Given the description of an element on the screen output the (x, y) to click on. 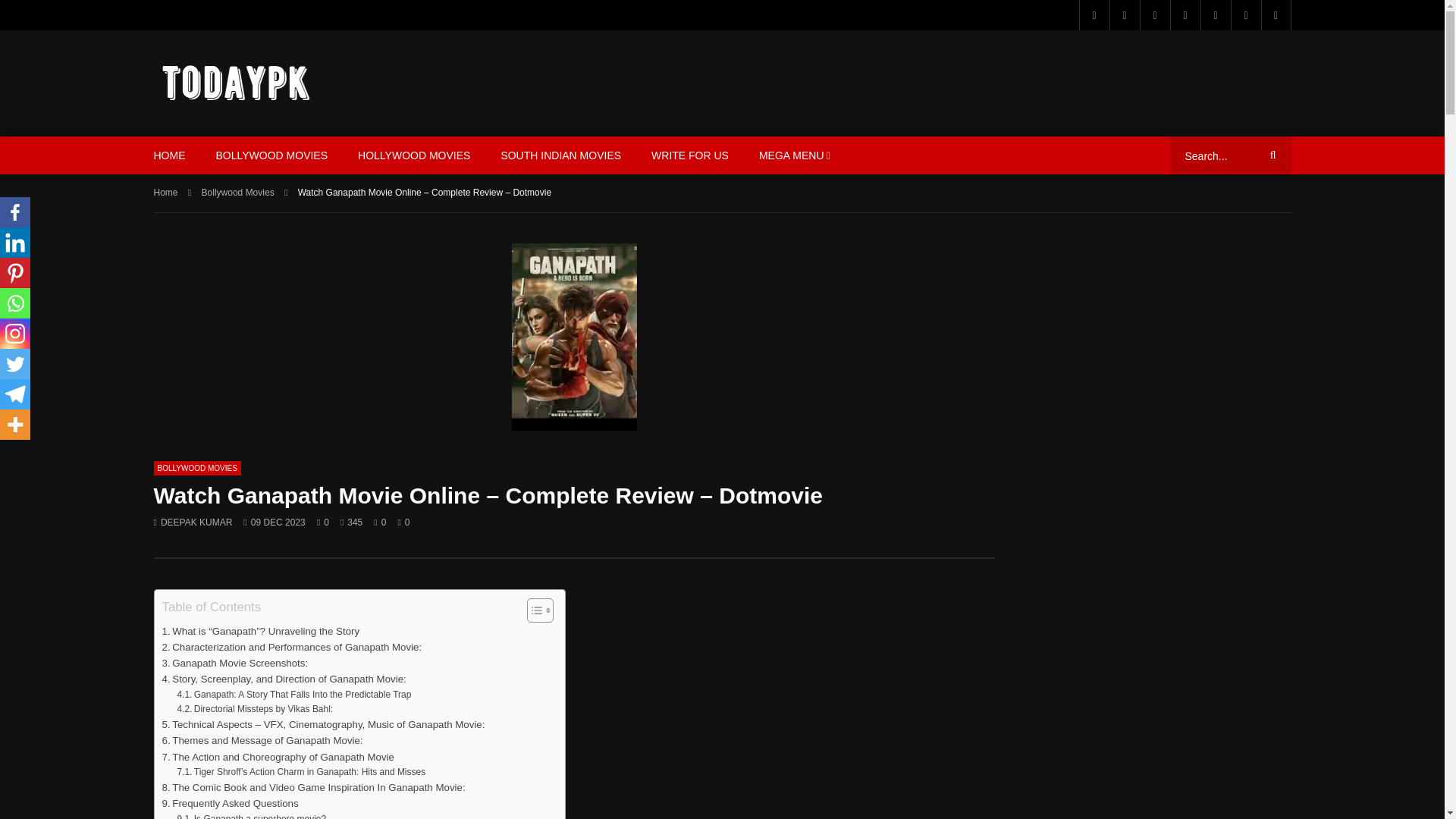
WRITE FOR US (690, 155)
Watch later (1245, 15)
BOLLYWOOD MOVIES (271, 155)
Todaypk (236, 82)
HOLLYWOOD MOVIES (413, 155)
Youtube (1184, 15)
Directorial Missteps by Vikas Bahl: (254, 708)
Ganapath Movie Screenshots: (234, 662)
Ganapath: A Story That Falls Into the Predictable Trap (293, 694)
Twitter (1123, 15)
Search (1270, 155)
The Action and Choreography of Ganapath Movie (277, 756)
Notifications (1275, 15)
SOUTH INDIAN MOVIES (560, 155)
DEEPAK KUMAR (195, 521)
